Given the description of an element on the screen output the (x, y) to click on. 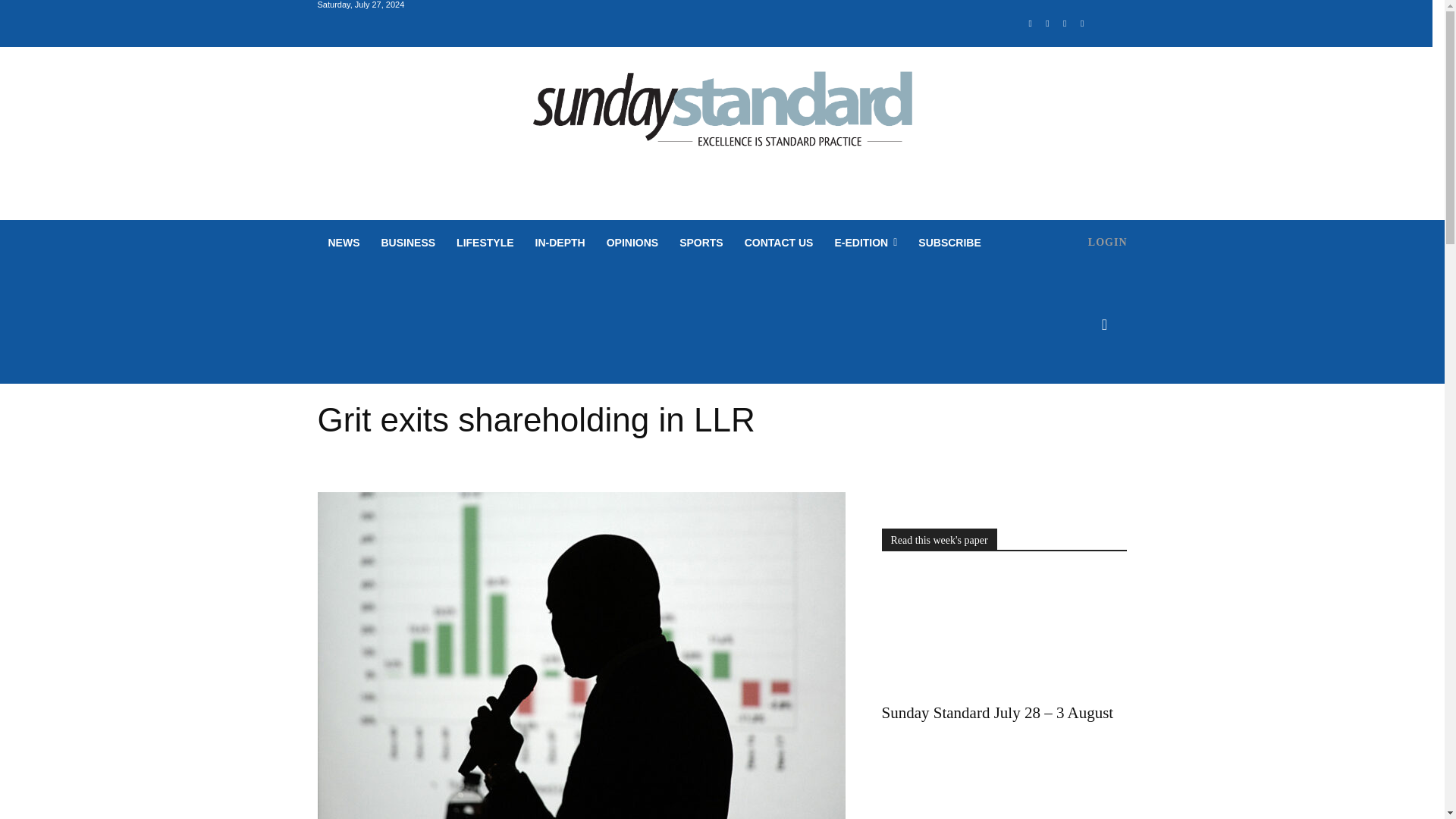
Youtube (1082, 23)
OPINIONS (631, 242)
Sunday Standard (721, 114)
SPORTS (700, 242)
E-EDITION (865, 242)
Facebook (1030, 23)
BUSINESS (407, 242)
CONTACT US (778, 242)
LIFESTYLE (484, 242)
IN-DEPTH (559, 242)
NEWS (343, 242)
Sunday Standard (721, 114)
